Given the description of an element on the screen output the (x, y) to click on. 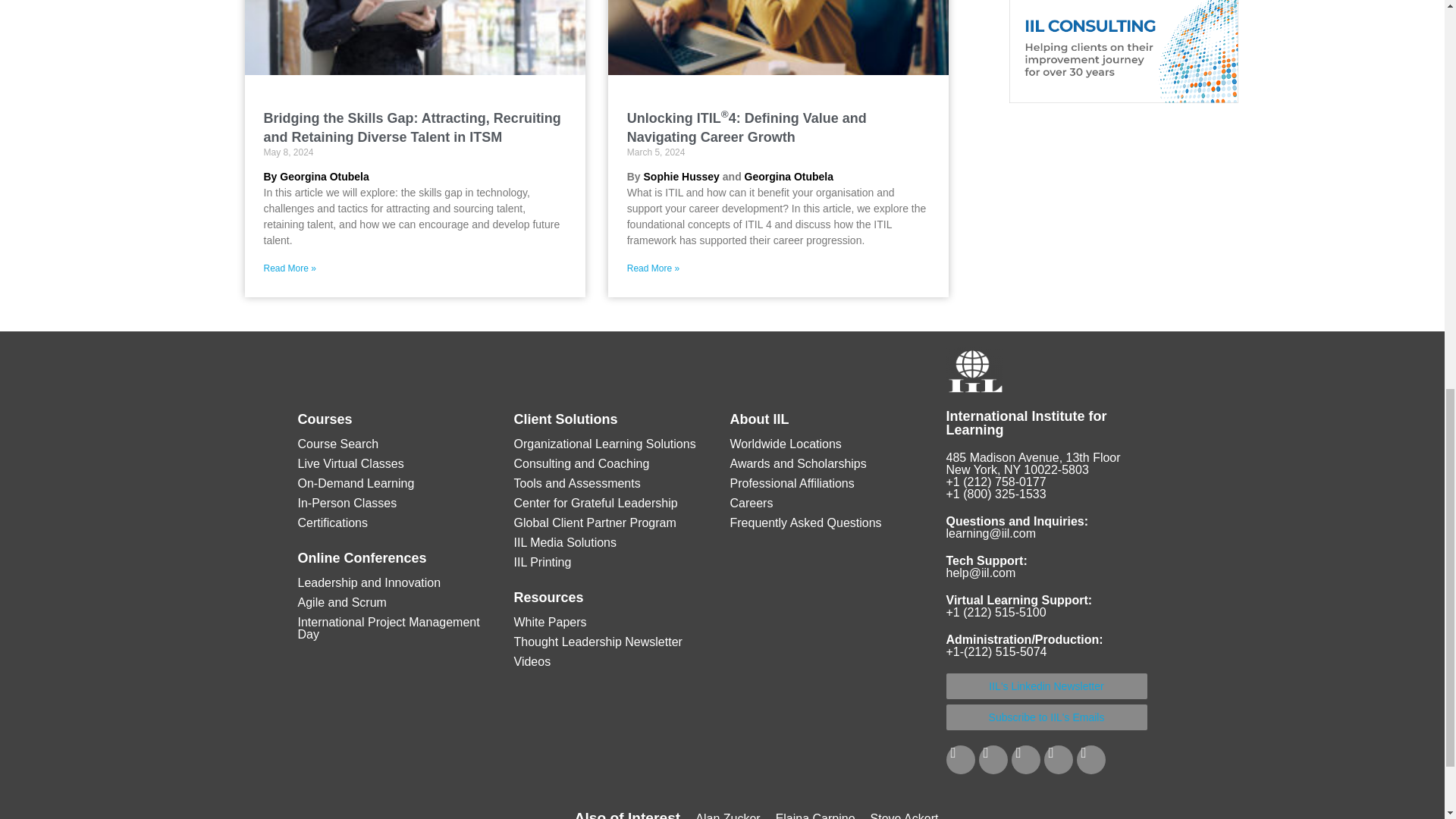
Georgina Otubela (788, 176)
By Georgina Otubela (316, 176)
Sophie Hussey (681, 176)
